Given the description of an element on the screen output the (x, y) to click on. 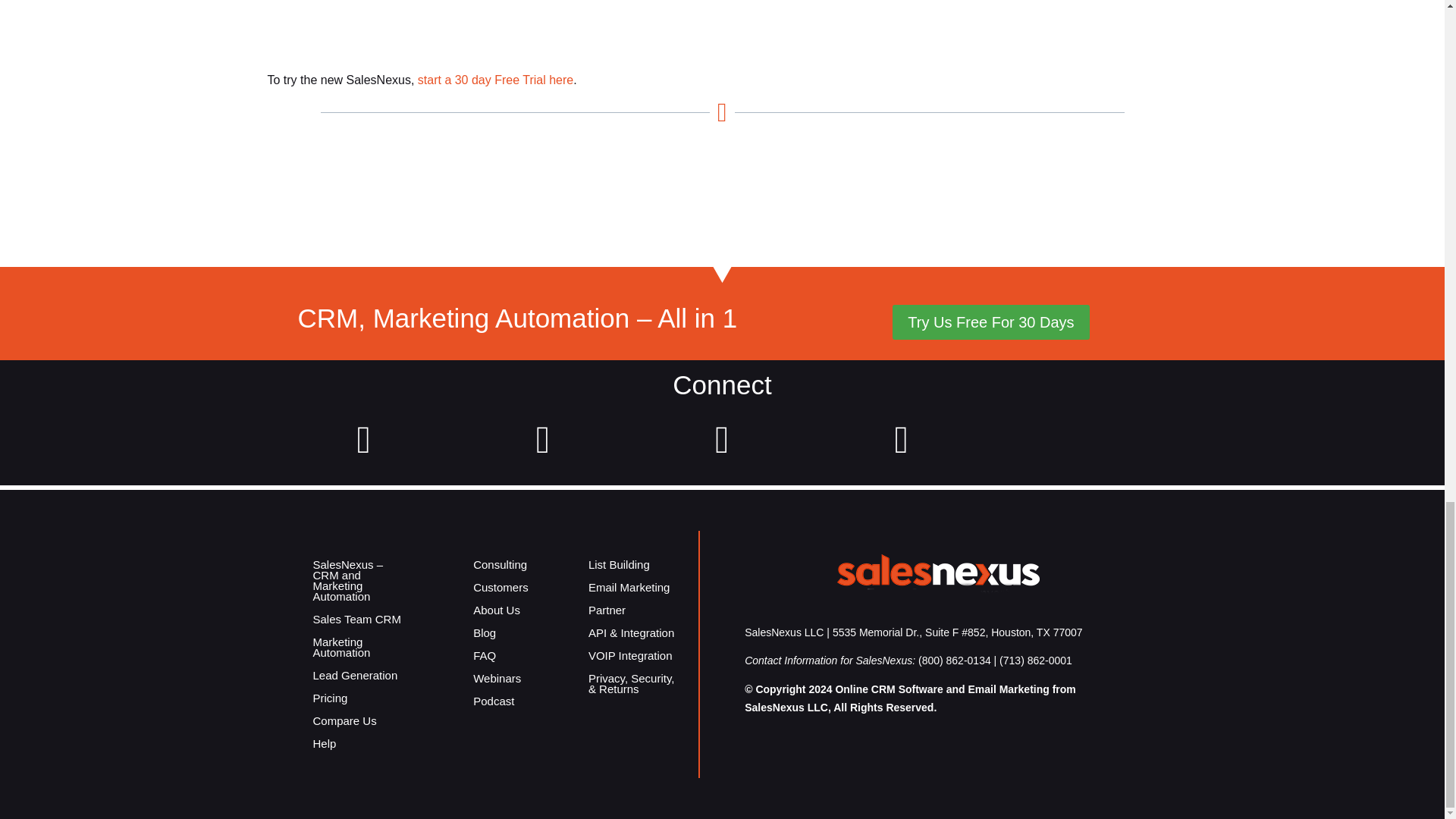
Major SalesNexus Upgrade June 2016 Release (721, 449)
Major SalesNexus Upgrade June 2016 Release (542, 449)
logo-white (938, 577)
Major SalesNexus Upgrade June 2016 Release (363, 449)
Major SalesNexus Upgrade June 2016 Release (901, 449)
